Given the description of an element on the screen output the (x, y) to click on. 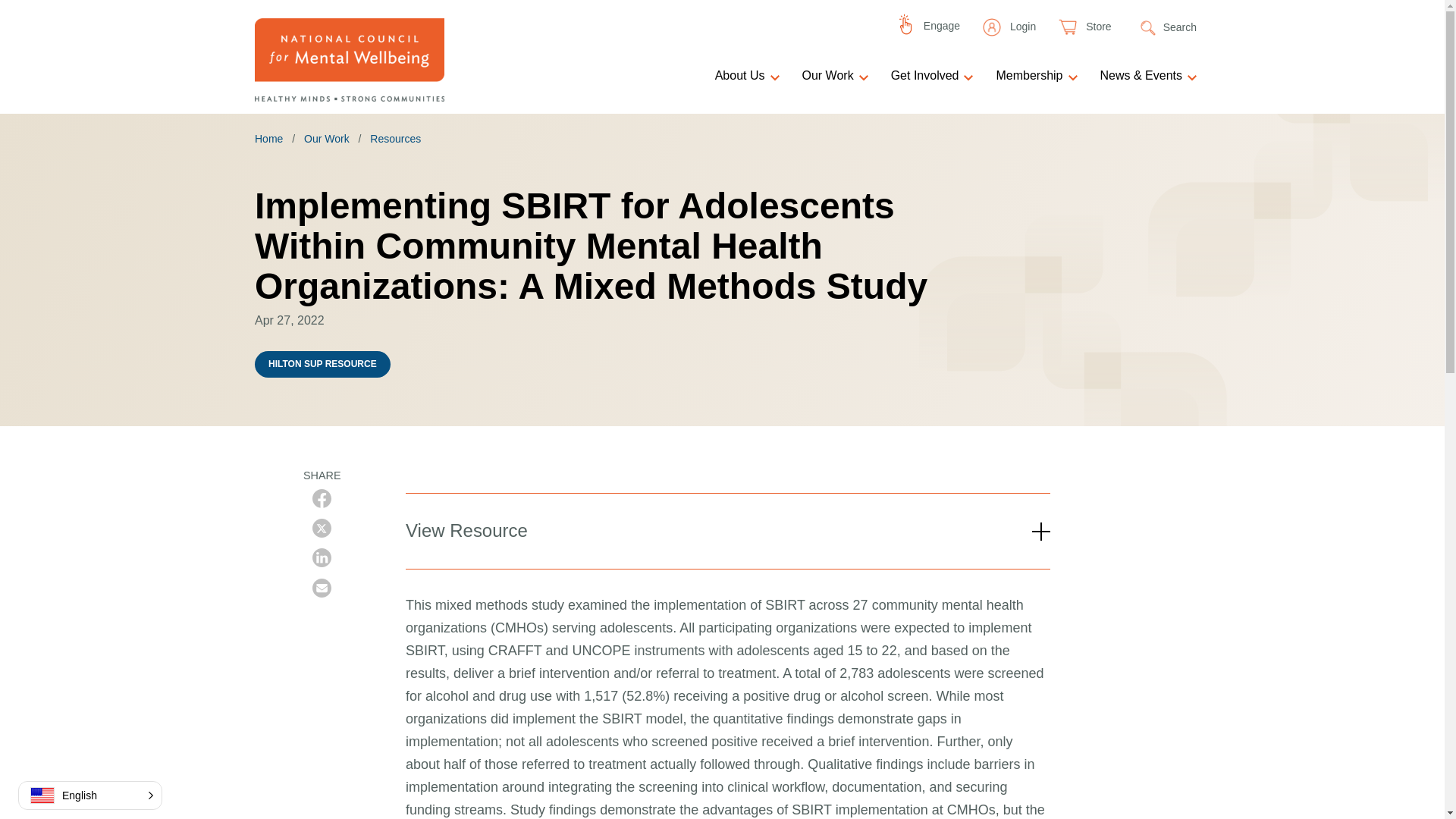
Skip to main content (721, 6)
Get Involved (934, 75)
Engage (927, 25)
Membership (1038, 75)
Home (349, 59)
About Us (749, 75)
Search (1167, 27)
Store (1084, 26)
Login (1008, 26)
Our Work (837, 75)
